Given the description of an element on the screen output the (x, y) to click on. 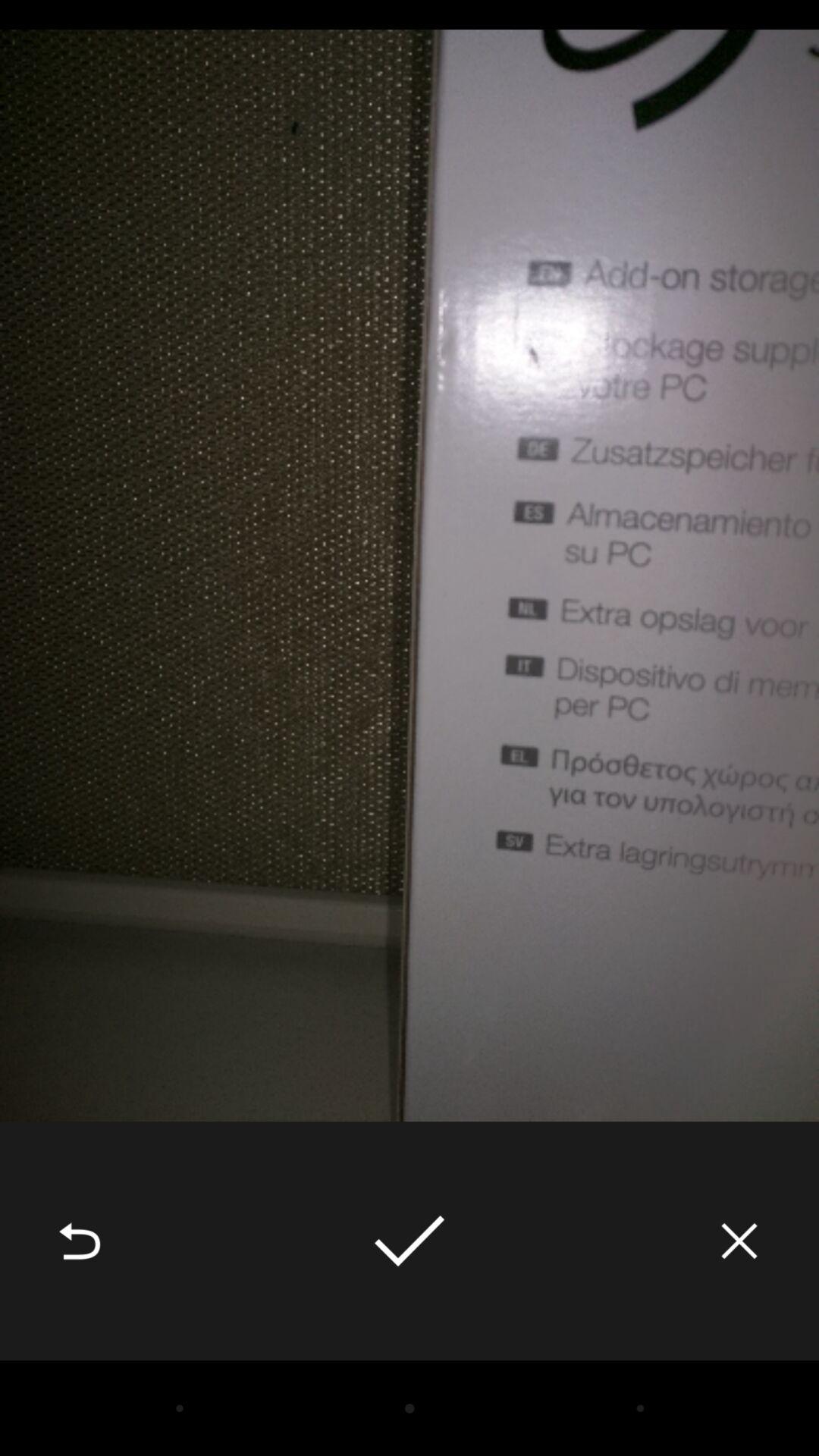
press the icon at the bottom left corner (79, 1240)
